Given the description of an element on the screen output the (x, y) to click on. 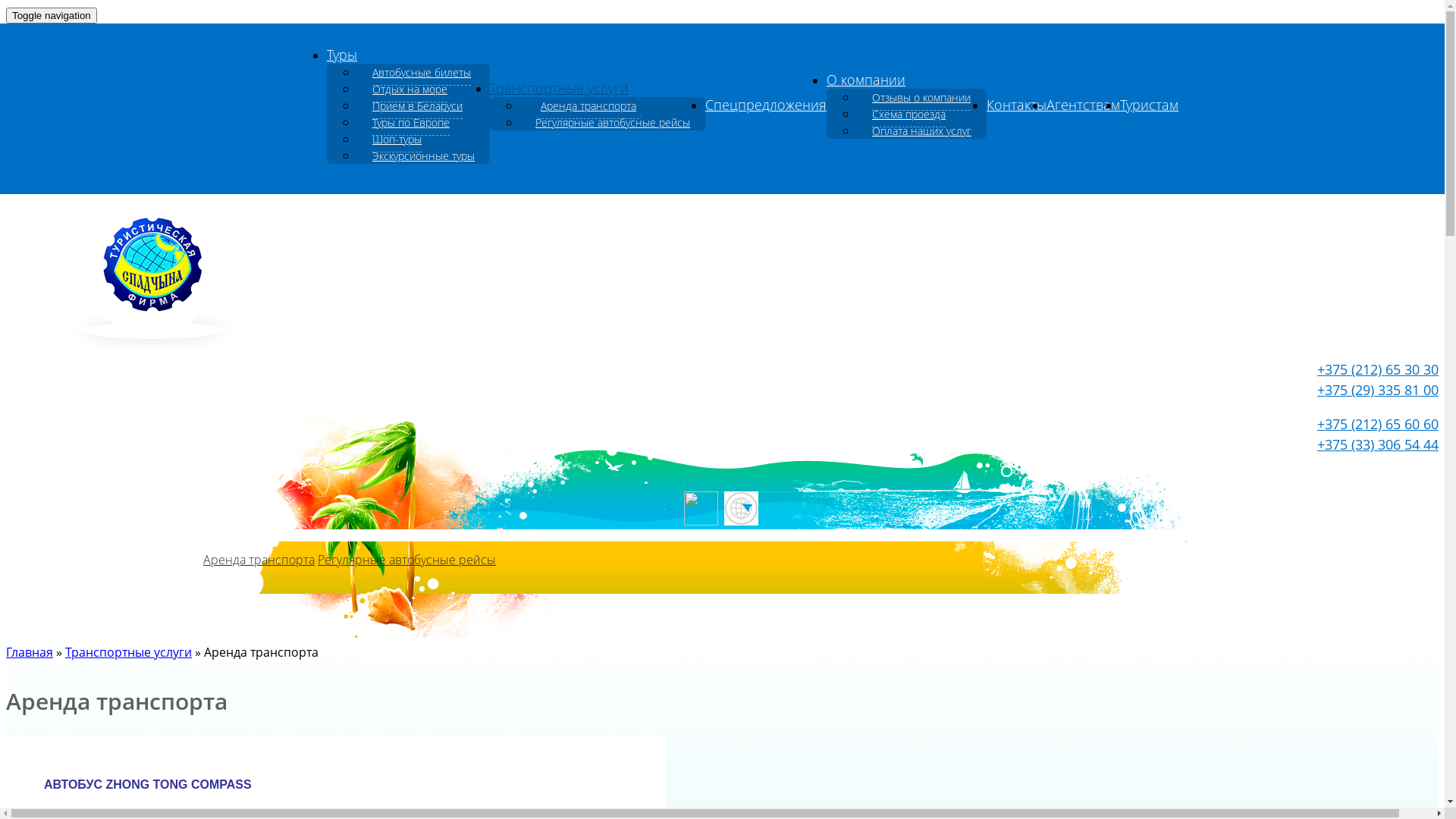
+375 (212) 65 60 60 Element type: text (1377, 423)
Toggle navigation Element type: text (51, 15)
+375 (33) 306 54 44 Element type: text (1377, 444)
+375 (29) 335 81 00 Element type: text (1377, 389)
+375 (212) 65 30 30 Element type: text (1377, 369)
